Given the description of an element on the screen output the (x, y) to click on. 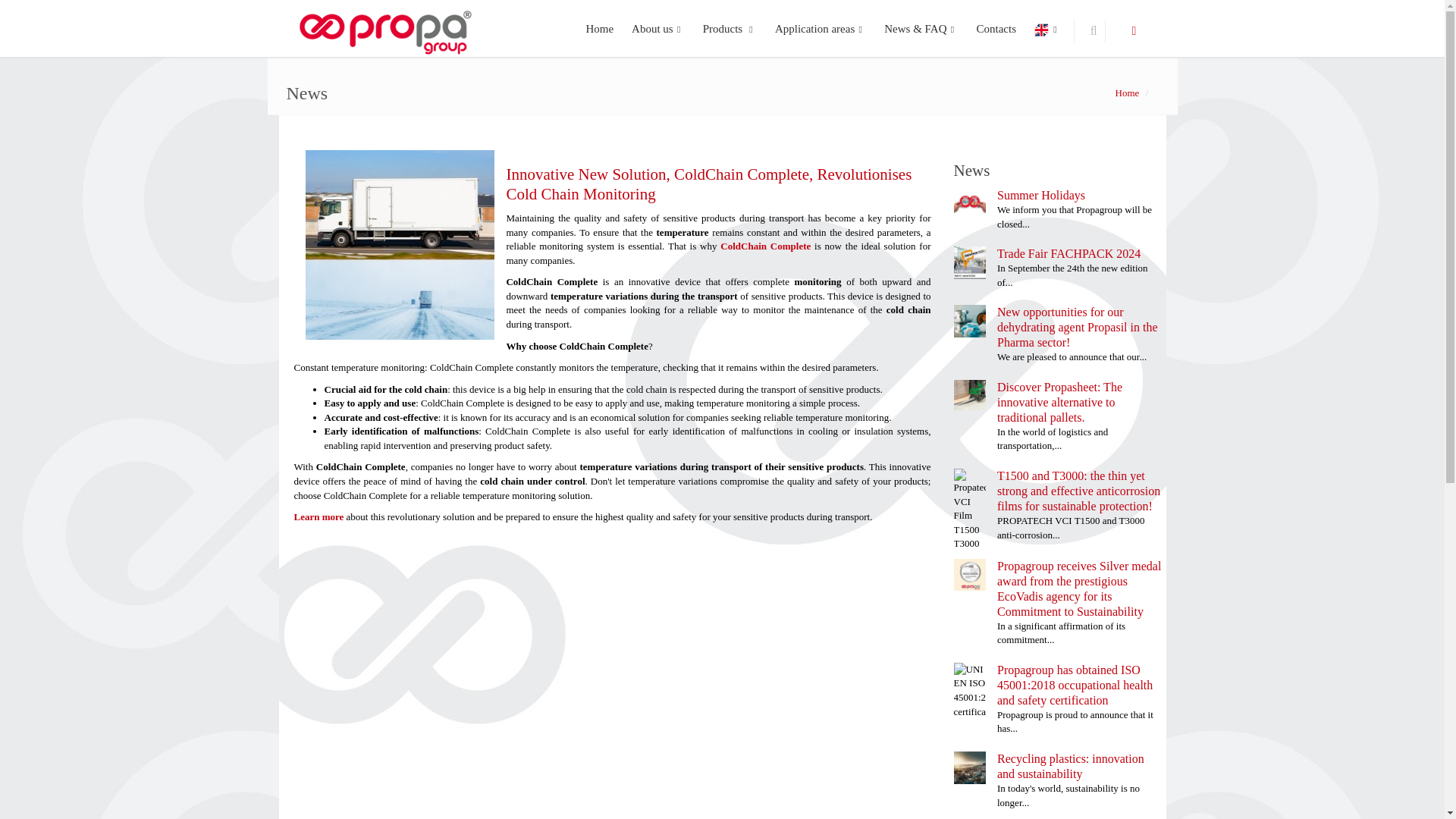
Products (729, 28)
About us (658, 28)
Cold Chain Complete (399, 244)
